Given the description of an element on the screen output the (x, y) to click on. 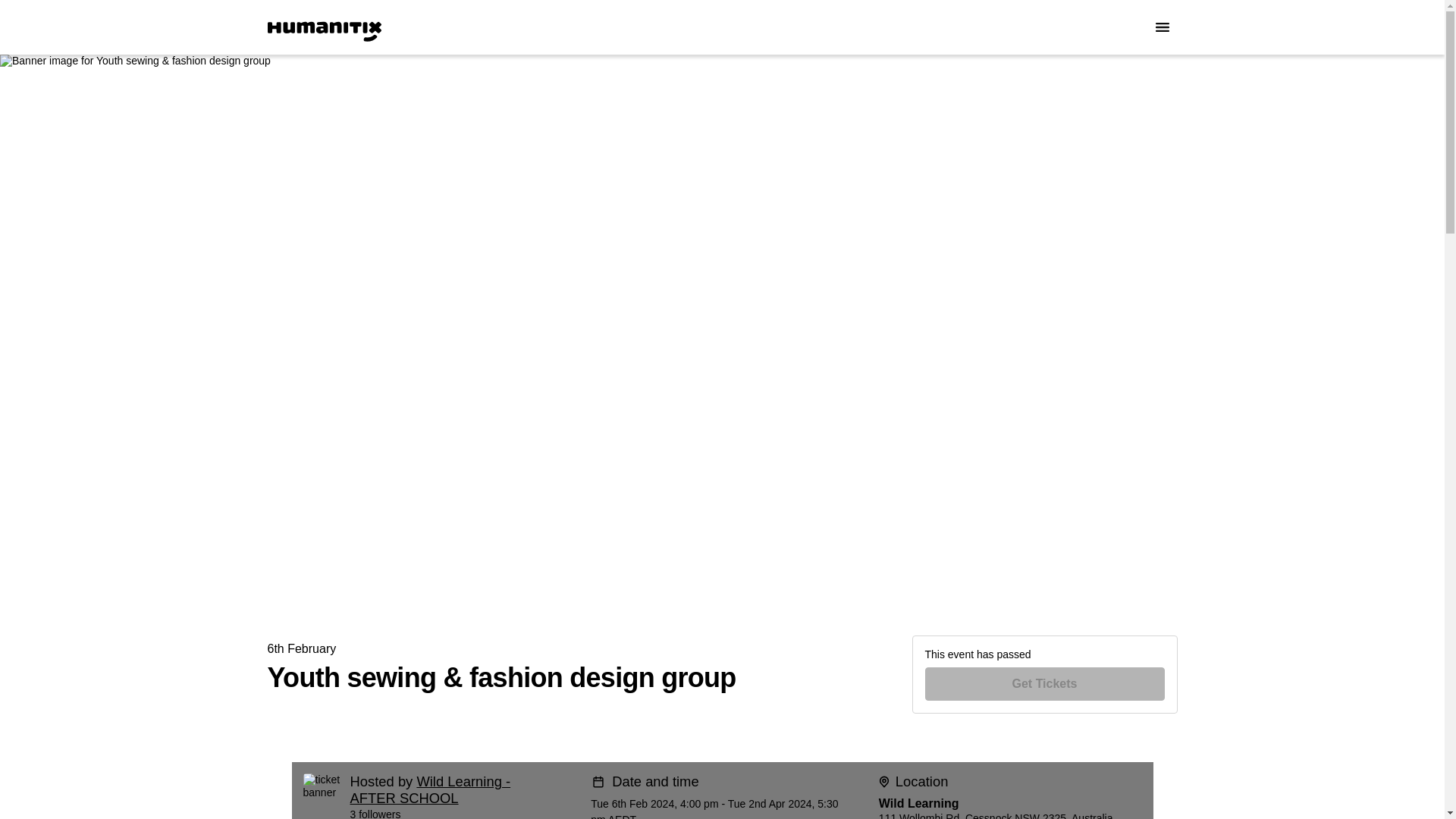
Get Tickets (1044, 684)
Skip to Content (18, 18)
Wild Learning - AFTER SCHOOL (430, 789)
